Given the description of an element on the screen output the (x, y) to click on. 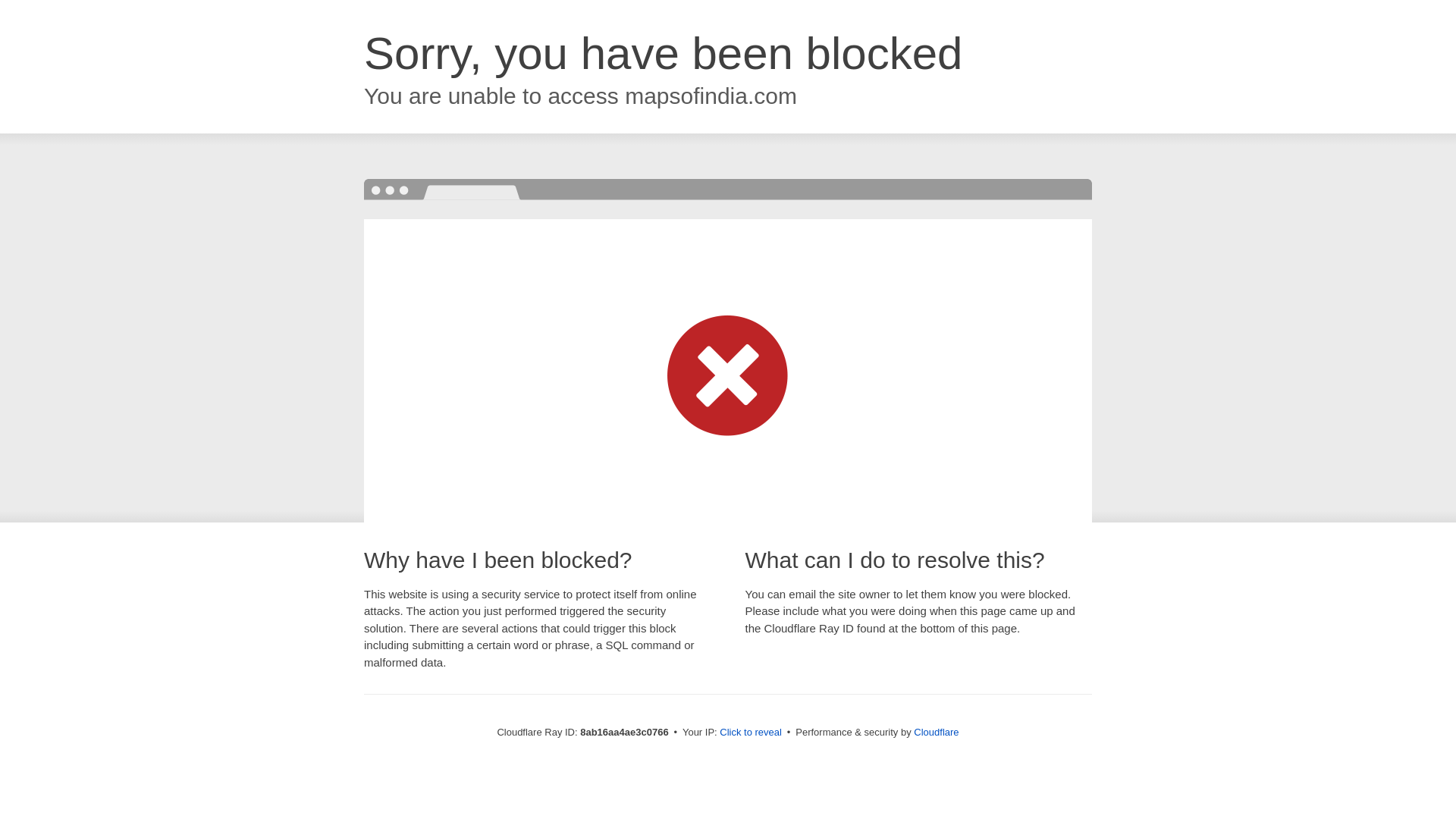
Click to reveal (750, 732)
Cloudflare (936, 731)
